Given the description of an element on the screen output the (x, y) to click on. 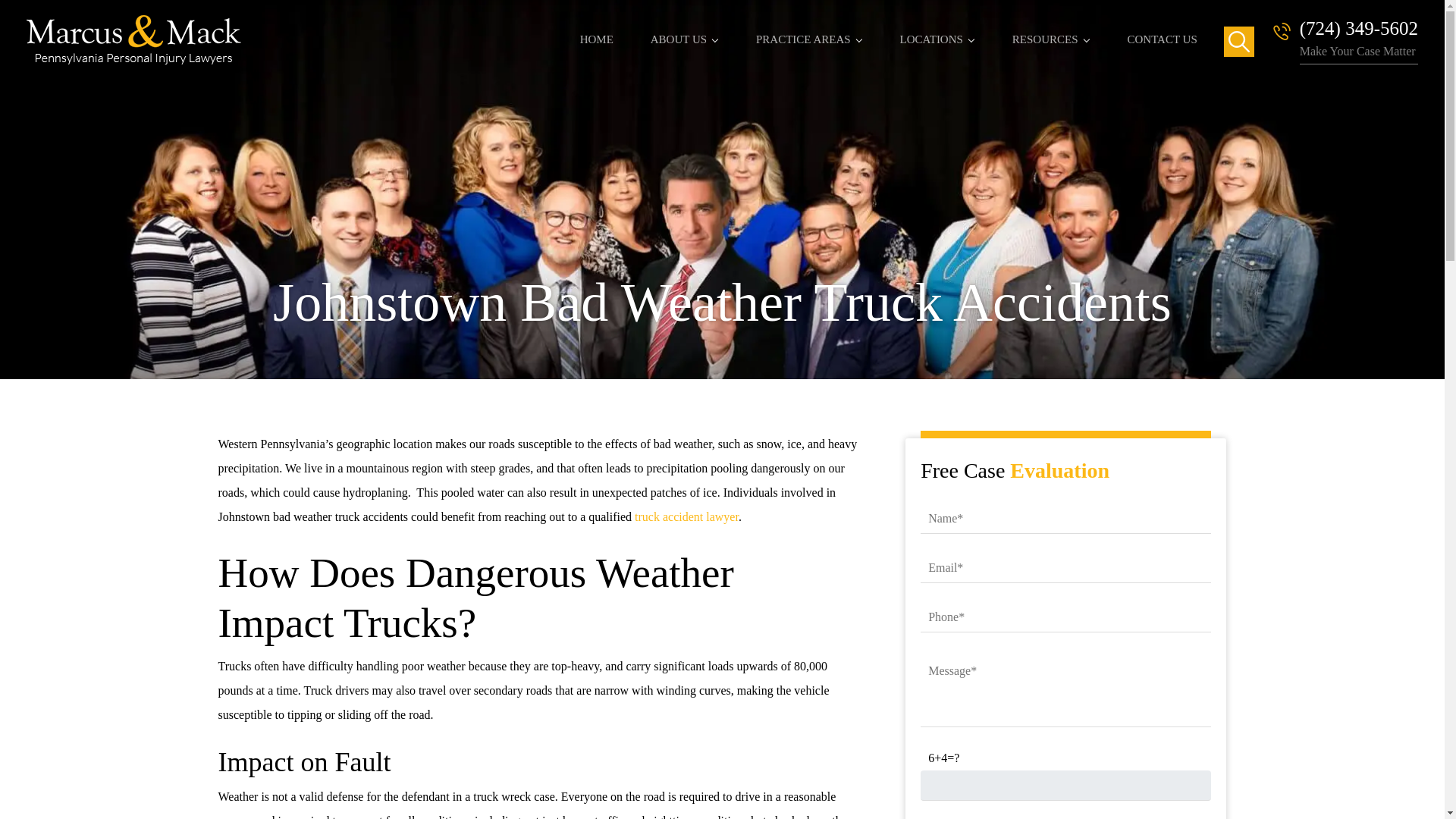
CONTACT US (1161, 29)
RESOURCES (1050, 29)
PRACTICE AREAS (809, 29)
ABOUT US (684, 29)
LOCATIONS (937, 29)
